Given the description of an element on the screen output the (x, y) to click on. 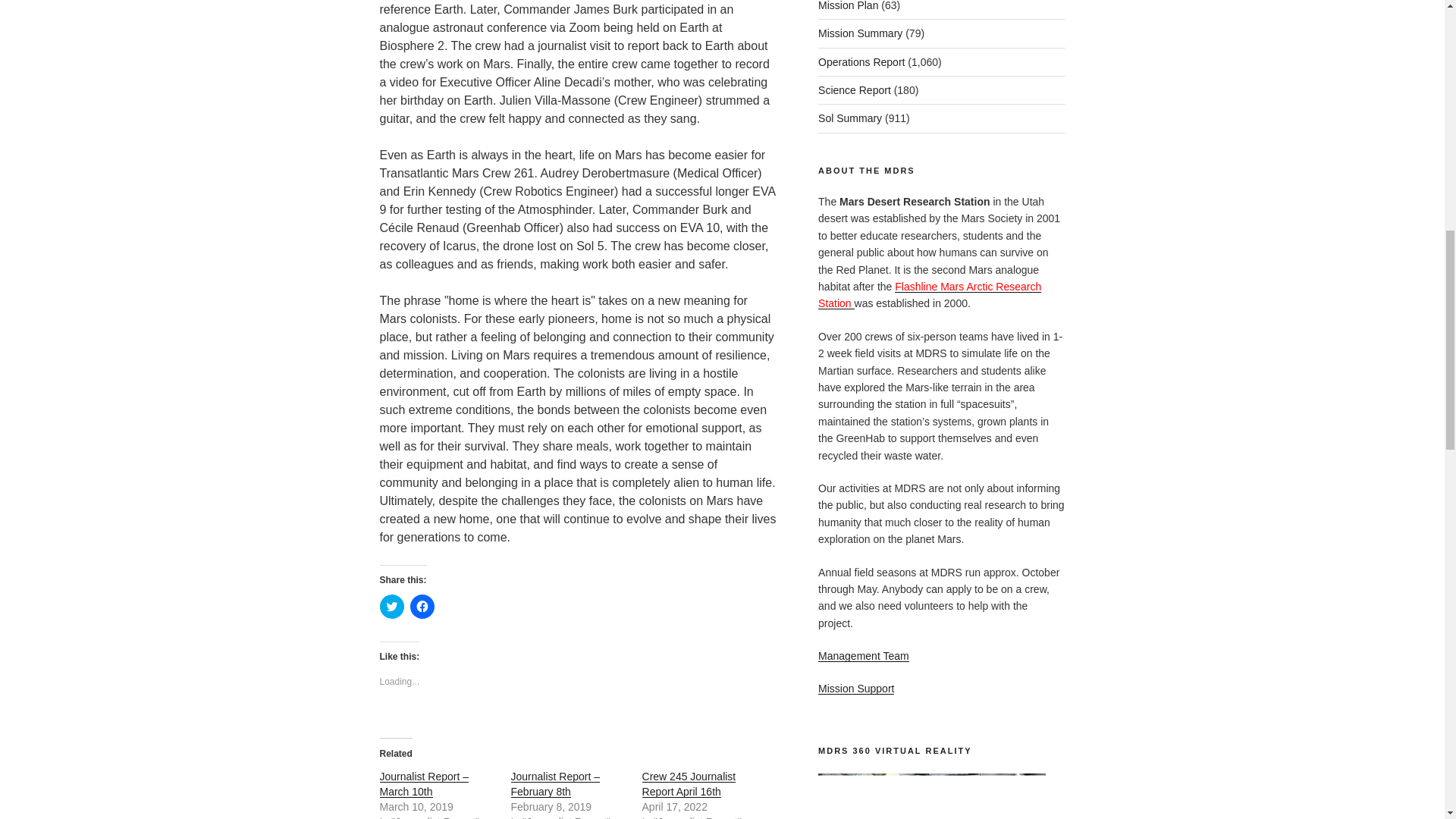
Crew 245 Journalist Report April 16th (689, 783)
Crew 245 Journalist Report April 16th (689, 783)
Click to share on Facebook (421, 606)
Click to share on Twitter (390, 606)
